Given the description of an element on the screen output the (x, y) to click on. 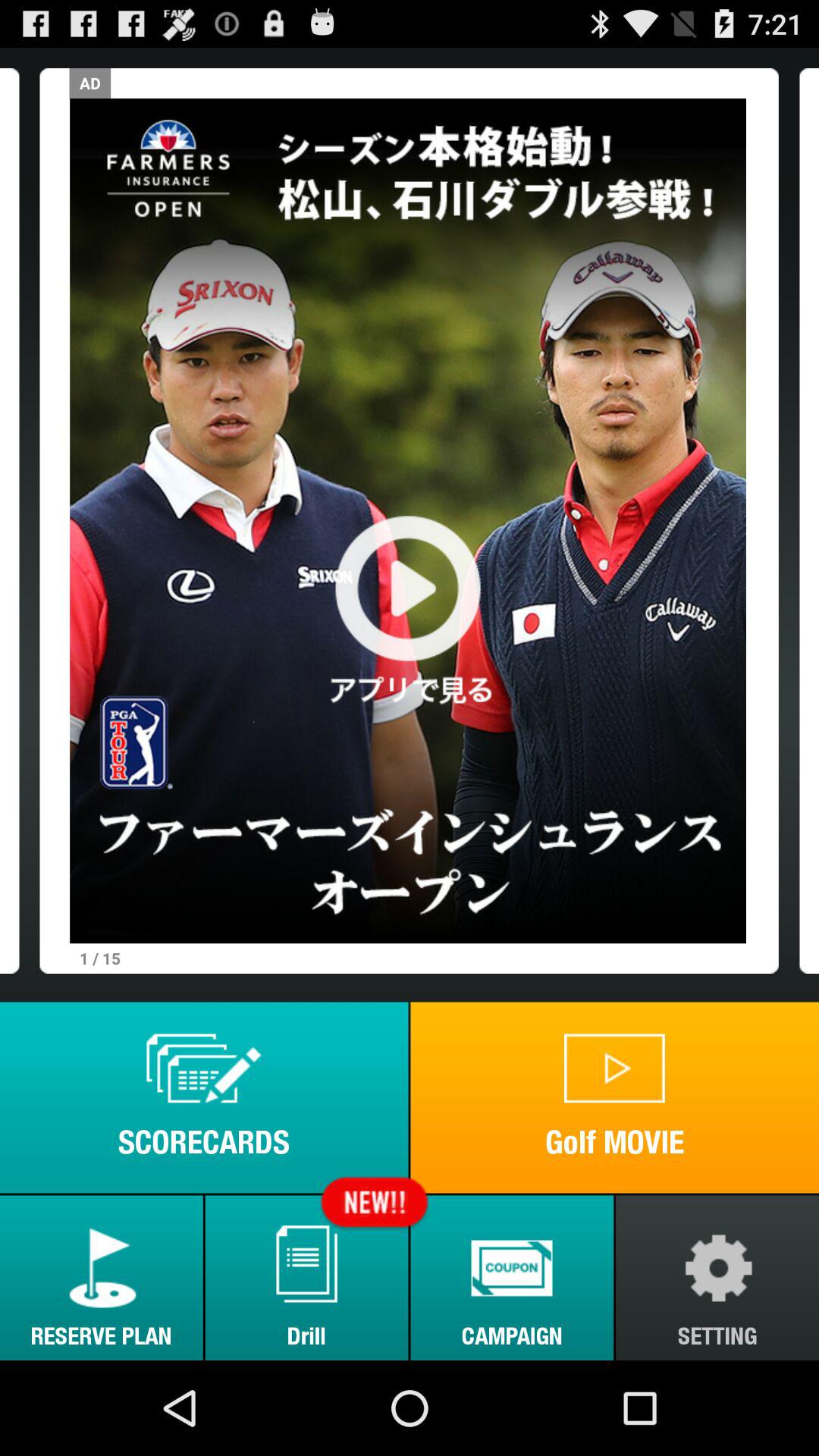
flip until drill item (306, 1277)
